Given the description of an element on the screen output the (x, y) to click on. 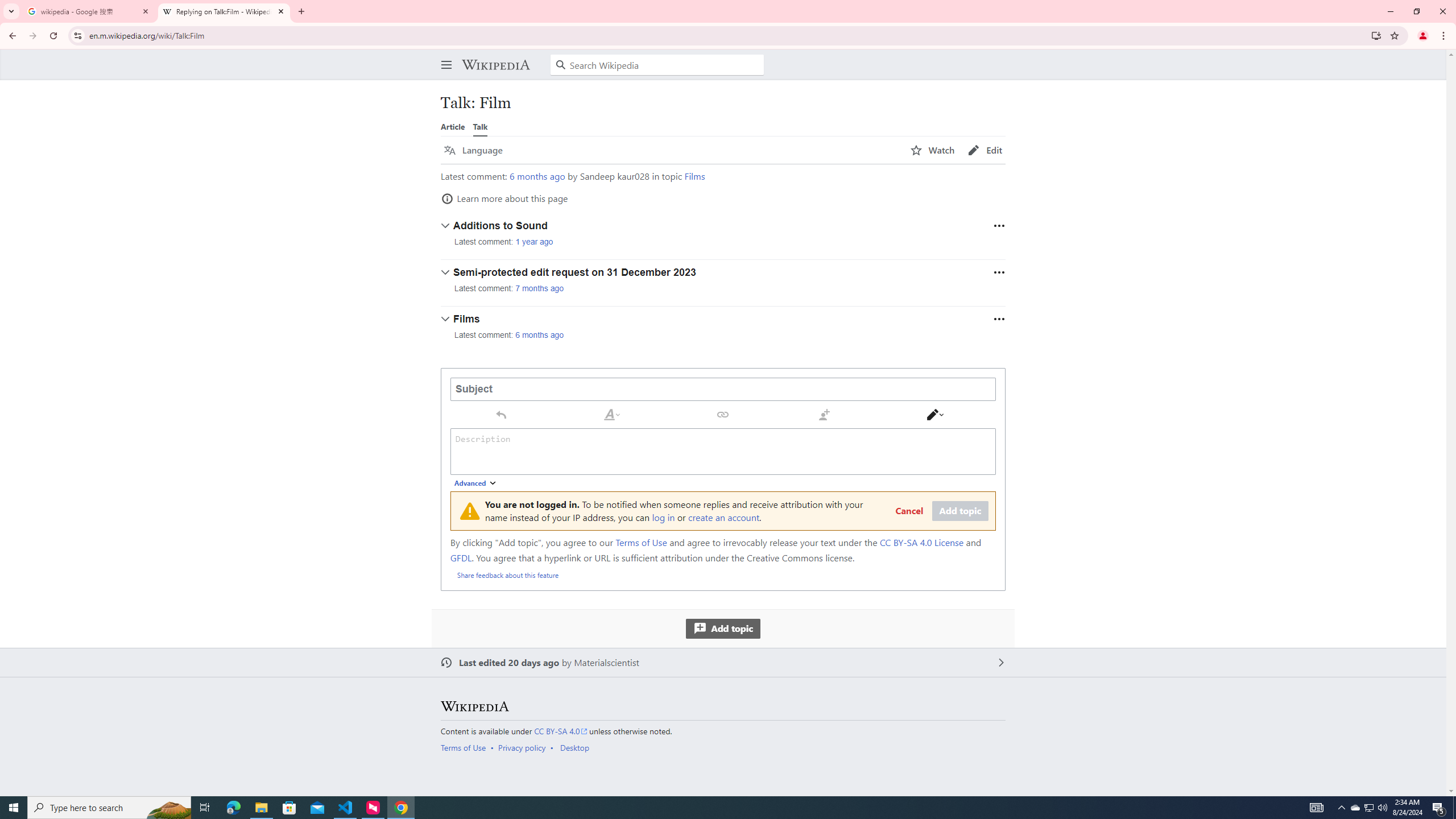
7 months ago (539, 288)
Language (472, 149)
Switch editor (934, 414)
AutomationID: footer-places-privacy (525, 747)
AutomationID: footer-places-desktop-toggle (576, 747)
AutomationID: footer-places-terms-use (466, 747)
Cancel (909, 511)
Replying on Talk:Film - Wikipedia (224, 11)
create an account (724, 517)
Search Wikipedia (657, 64)
